Given the description of an element on the screen output the (x, y) to click on. 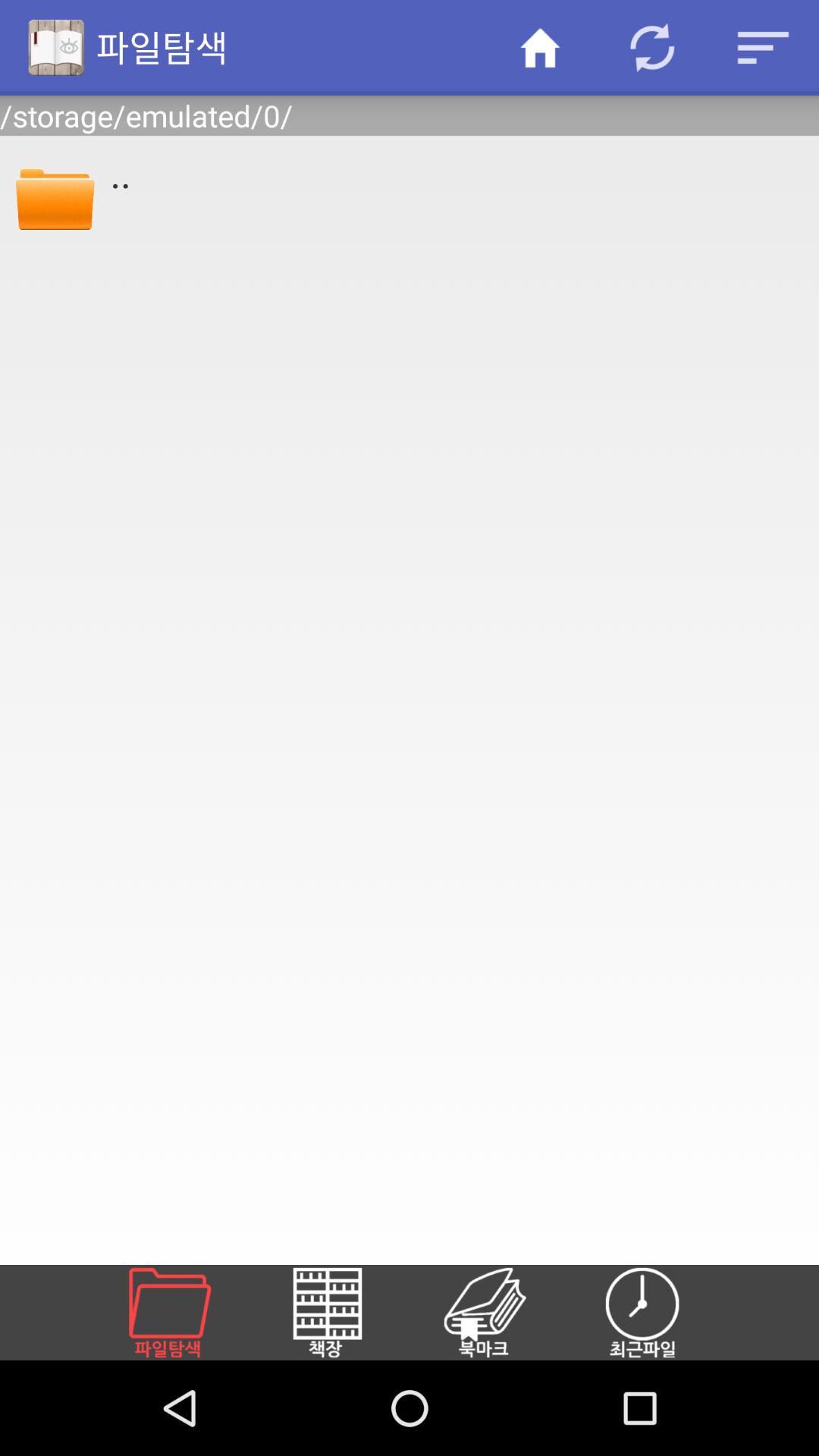
bookmarks (502, 1312)
